Given the description of an element on the screen output the (x, y) to click on. 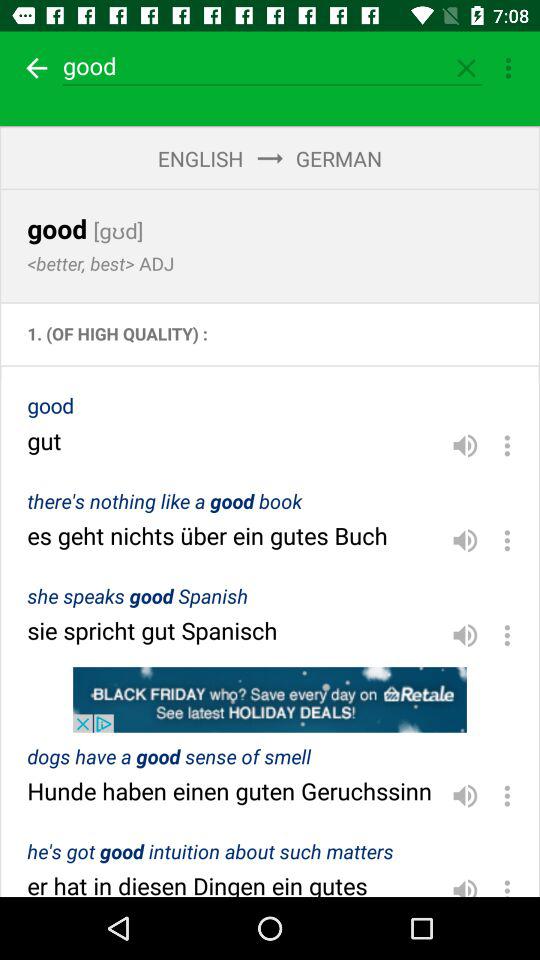
explore the options (507, 635)
